Given the description of an element on the screen output the (x, y) to click on. 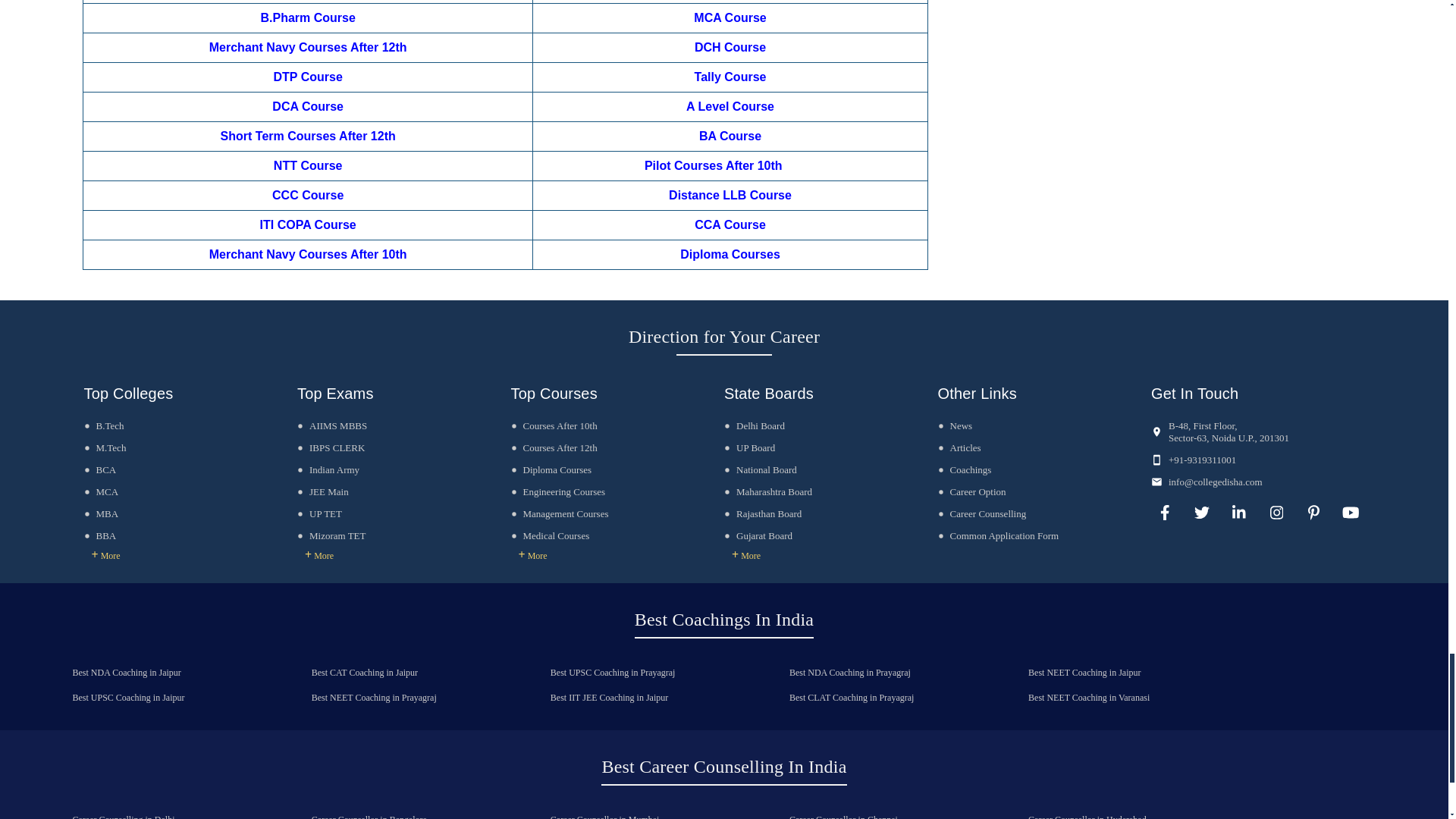
B.Tech (102, 425)
MBA (99, 513)
DTP Course (307, 76)
MCA (99, 491)
JEE Main (323, 491)
DCA Course (307, 106)
CCC Course (307, 195)
Merchant Navy Courses After 10th (308, 254)
Pilot Courses After 10th (714, 164)
BA Course (729, 135)
